Given the description of an element on the screen output the (x, y) to click on. 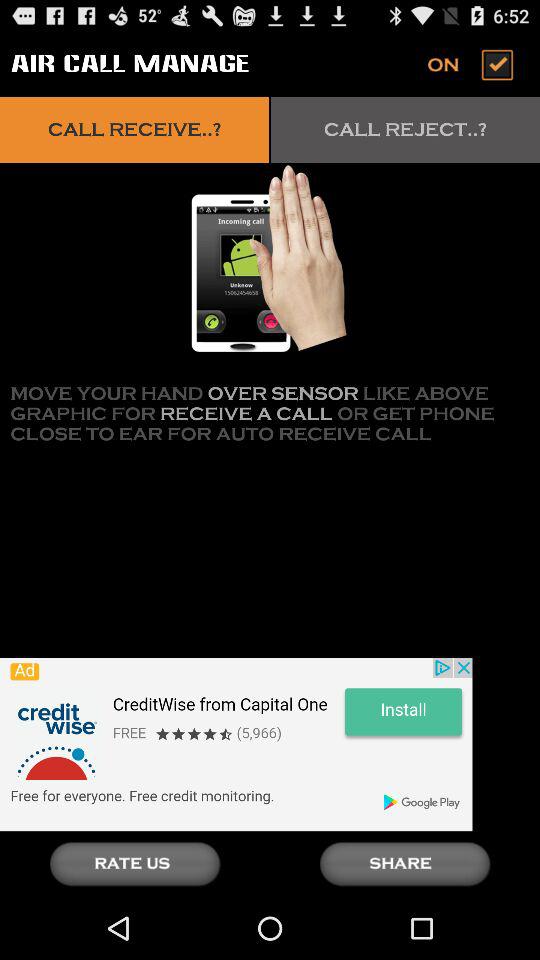
share the article (405, 863)
